Given the description of an element on the screen output the (x, y) to click on. 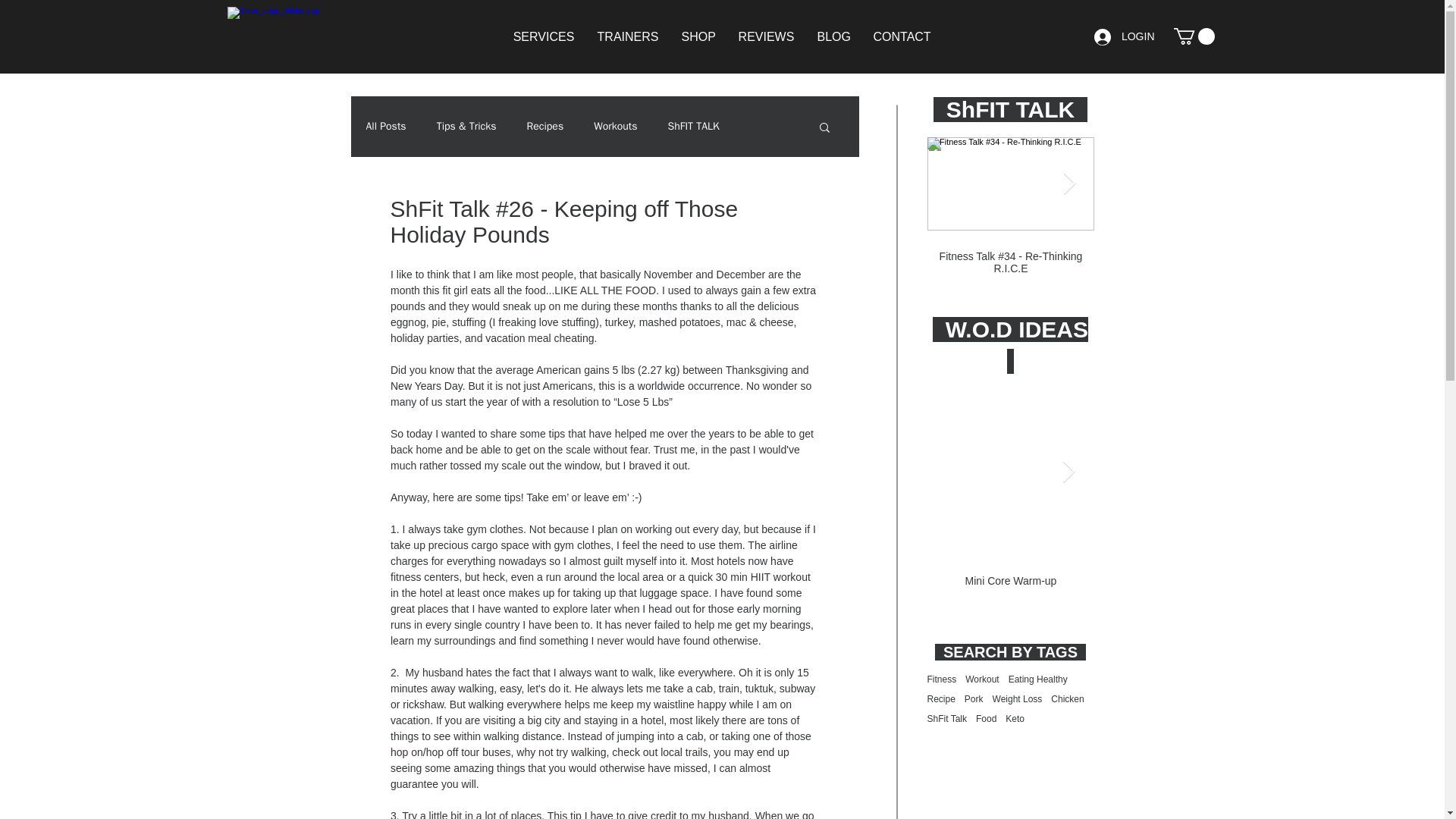
Recipes (545, 126)
Pork (973, 698)
BLOG (833, 36)
Workout (981, 679)
Eating Healthy (1038, 679)
Fitness (941, 679)
Mini Core Warm-up (1176, 580)
ShFIT TALK (693, 126)
Recipe (940, 698)
Workouts (615, 126)
